Given the description of an element on the screen output the (x, y) to click on. 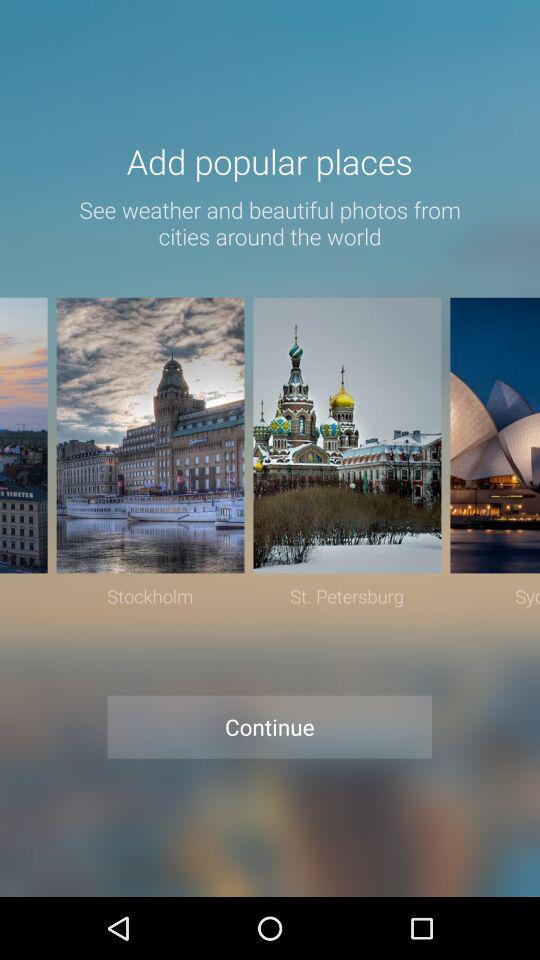
tap the continue item (269, 726)
